Given the description of an element on the screen output the (x, y) to click on. 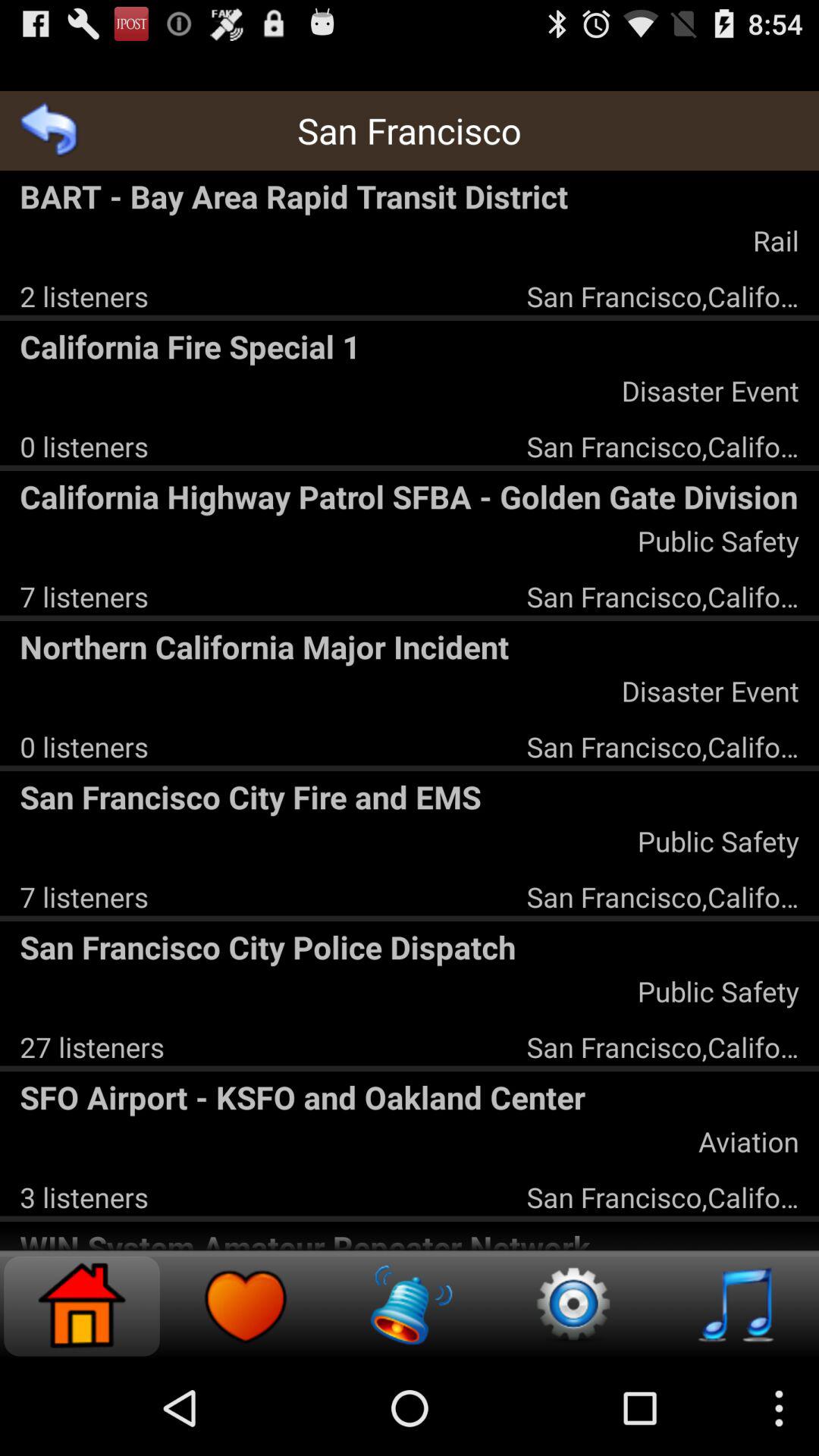
select california highway patrol item (409, 496)
